Given the description of an element on the screen output the (x, y) to click on. 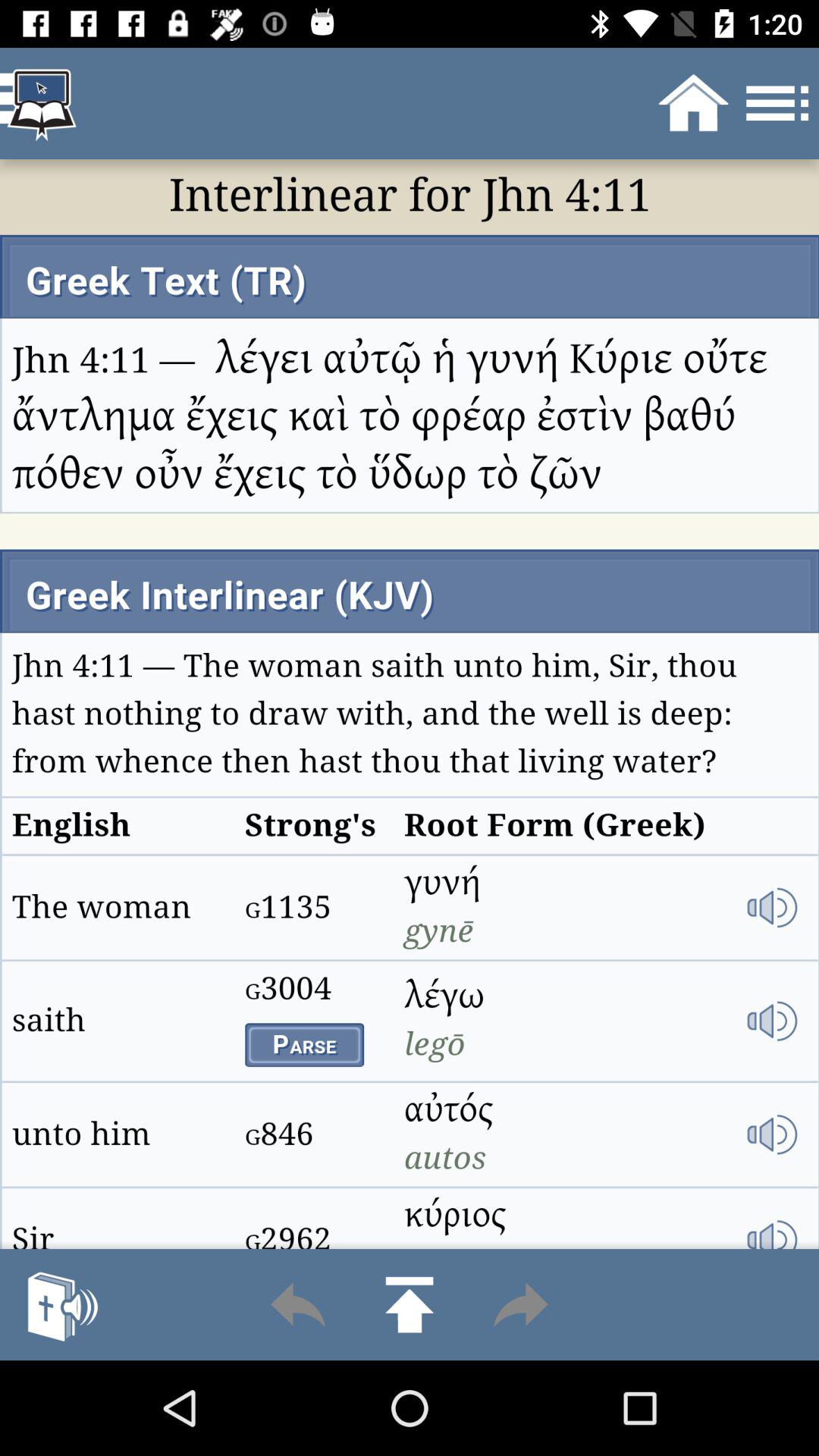
go up (409, 1304)
